Given the description of an element on the screen output the (x, y) to click on. 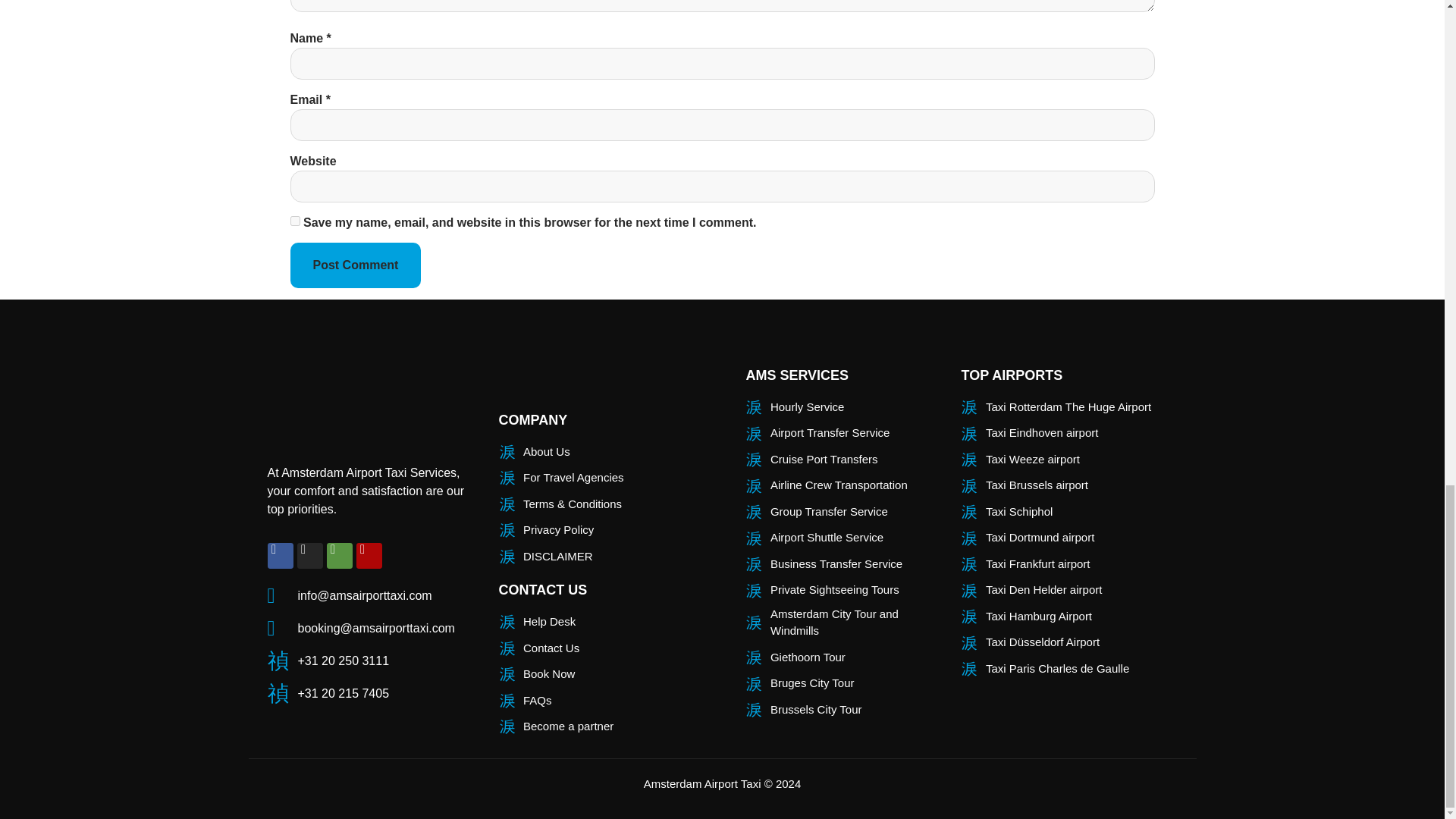
yes (294, 221)
Post Comment (354, 265)
Post Comment (354, 265)
